Given the description of an element on the screen output the (x, y) to click on. 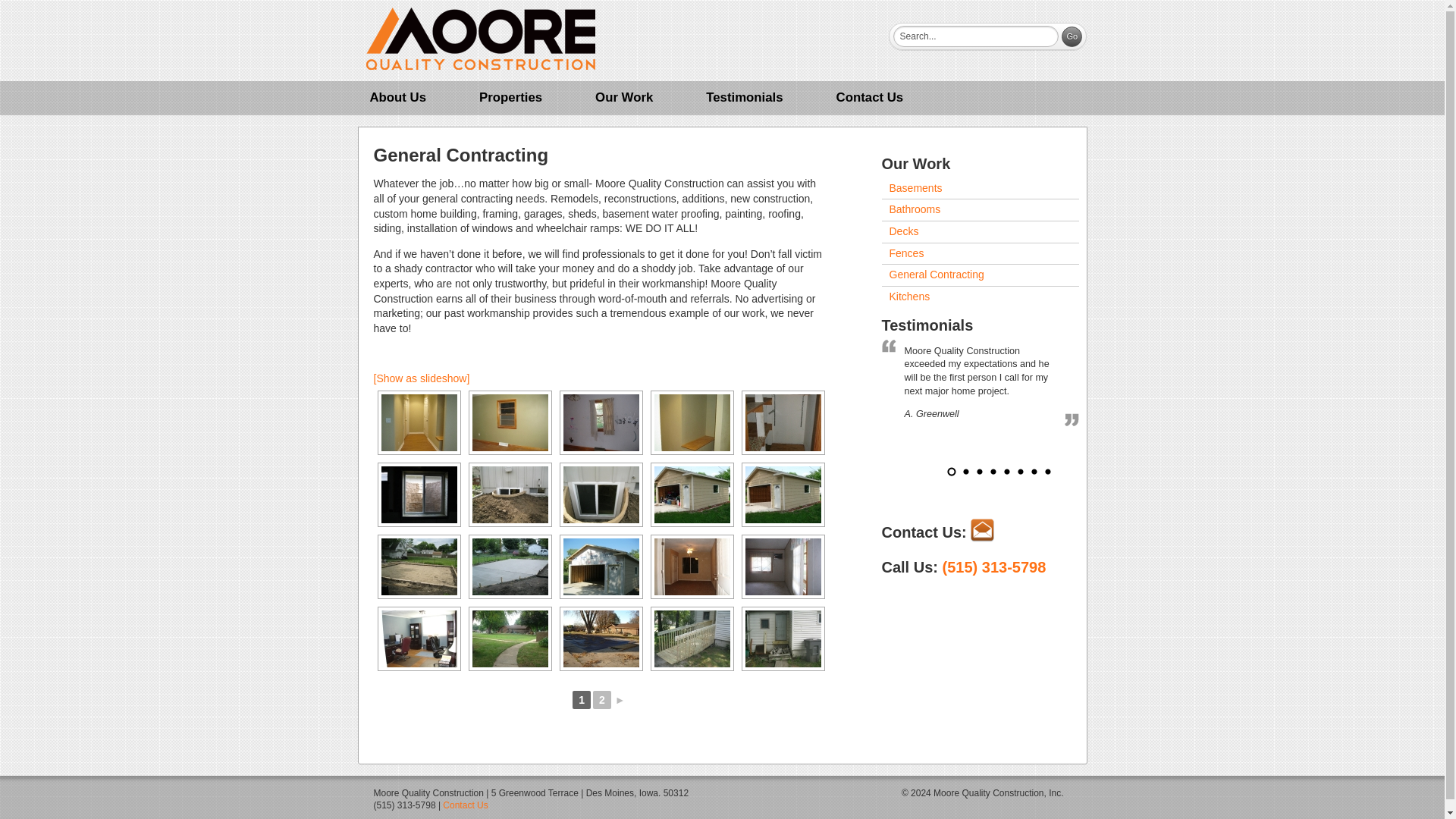
Search... (975, 35)
Fences (979, 253)
Contact Us (870, 97)
Properties (510, 97)
Basements (979, 188)
Need Moore Quality (480, 38)
Search... (975, 35)
Bathrooms (979, 209)
Testimonials (743, 97)
Go (1071, 36)
Our Work (623, 97)
Go (1071, 36)
Go (1071, 36)
About Us (398, 97)
Decks (979, 231)
